Given the description of an element on the screen output the (x, y) to click on. 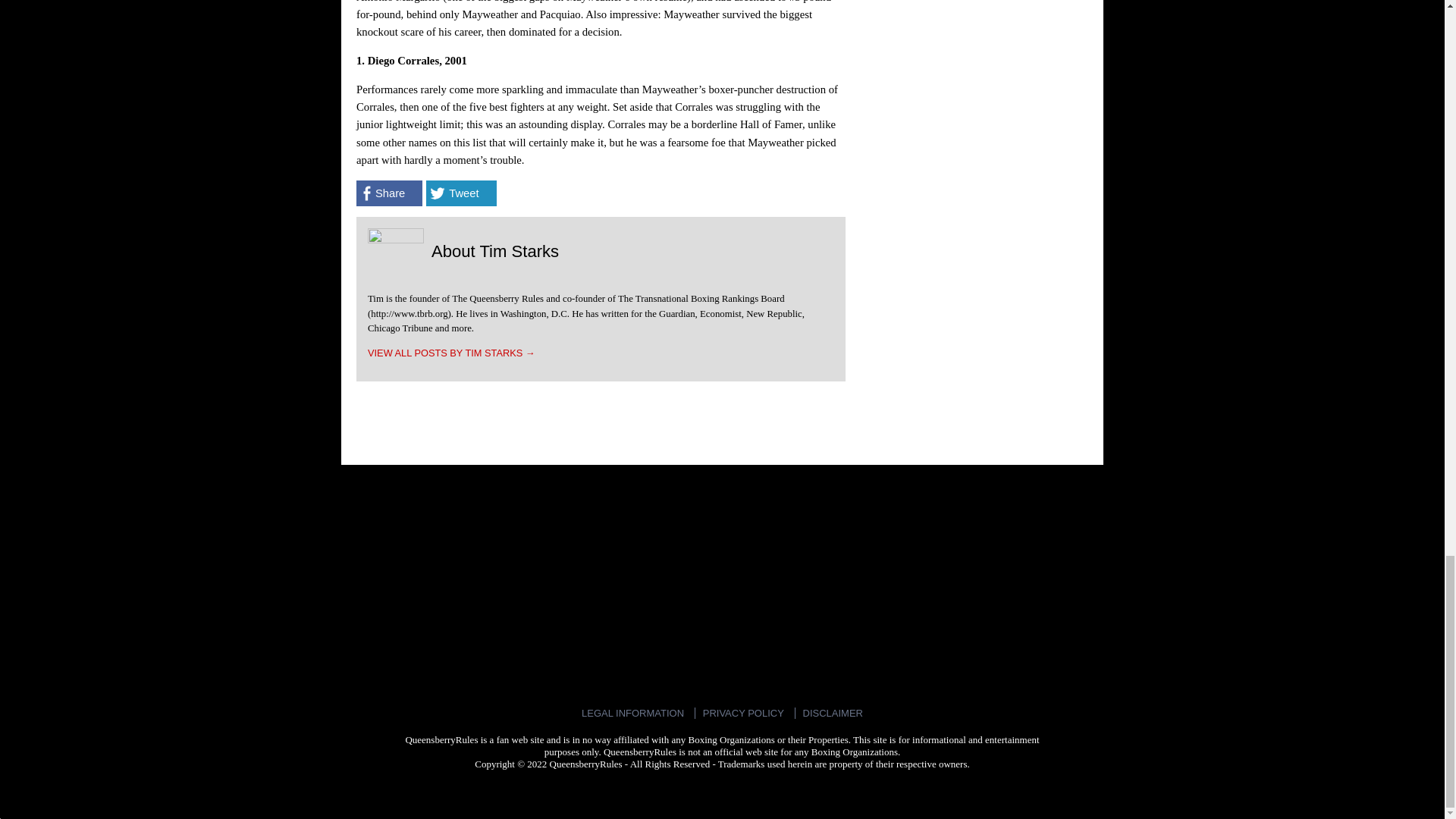
Tweet (461, 193)
PRIVACY POLICY (743, 713)
Share (389, 193)
LEGAL INFORMATION (632, 713)
DISCLAIMER (833, 713)
